Given the description of an element on the screen output the (x, y) to click on. 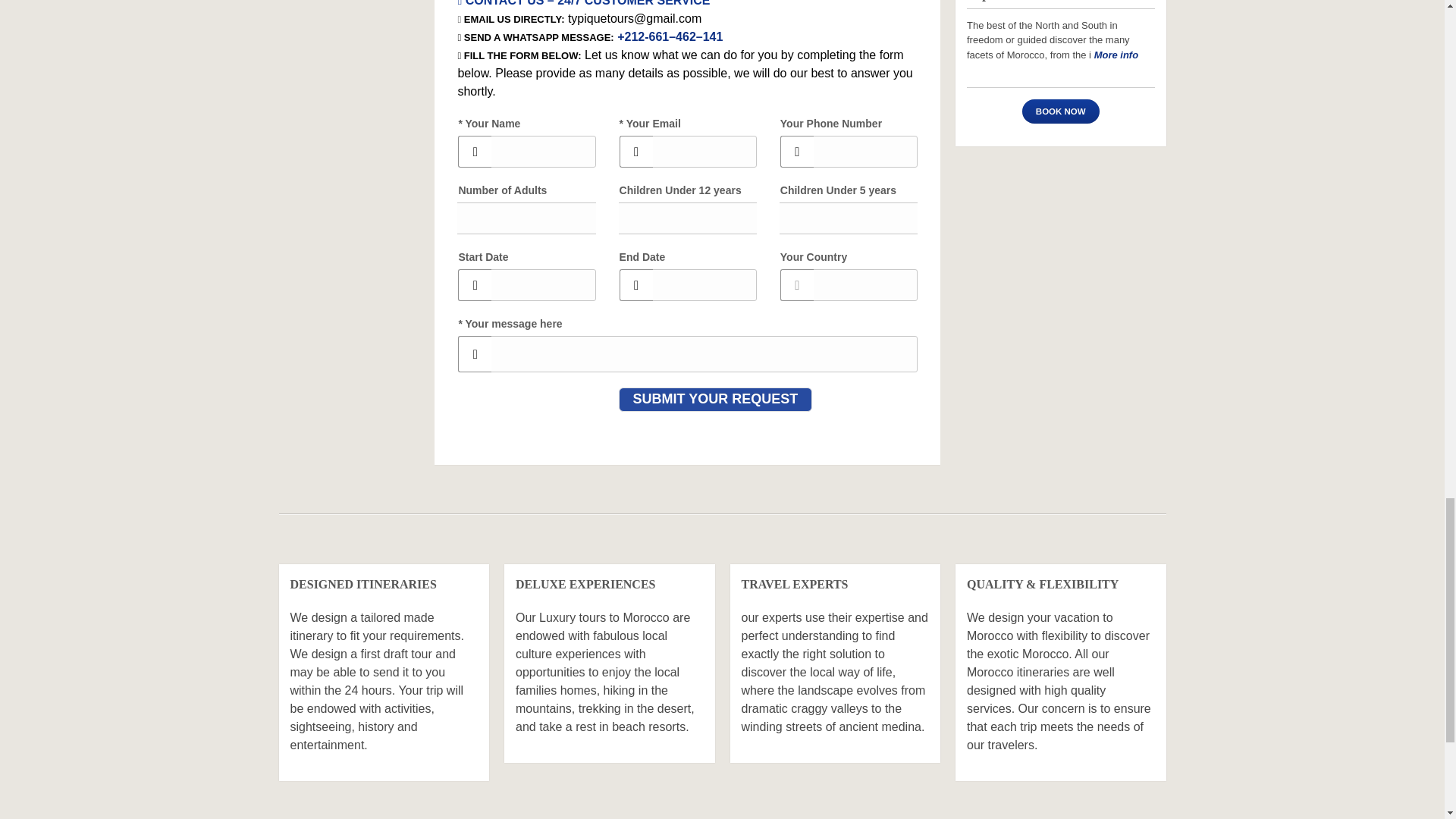
BOOK NOW (1060, 110)
More info (1116, 53)
SUBMIT YOUR REQUEST (715, 399)
